Given the description of an element on the screen output the (x, y) to click on. 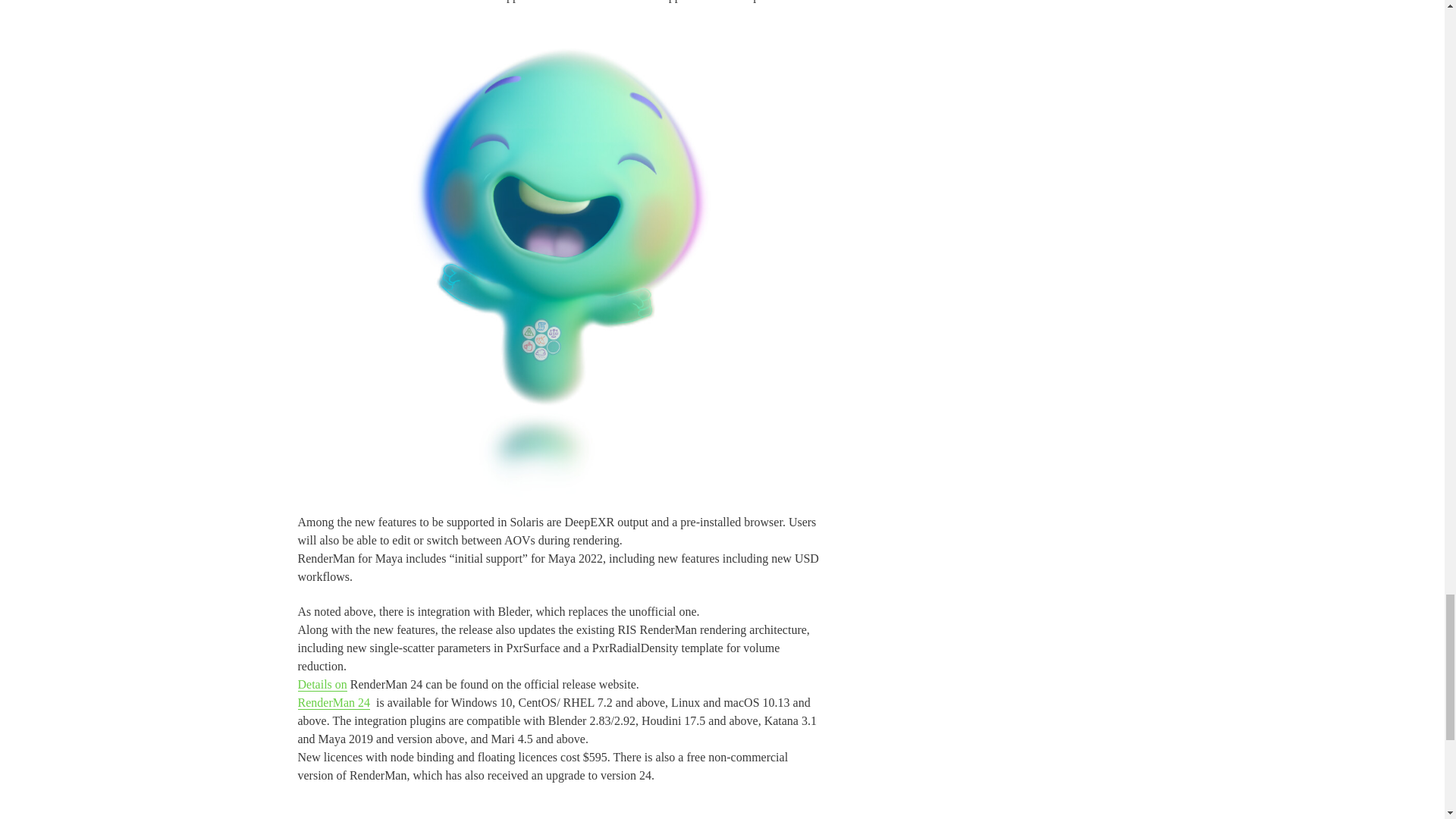
Details on (321, 684)
